Given the description of an element on the screen output the (x, y) to click on. 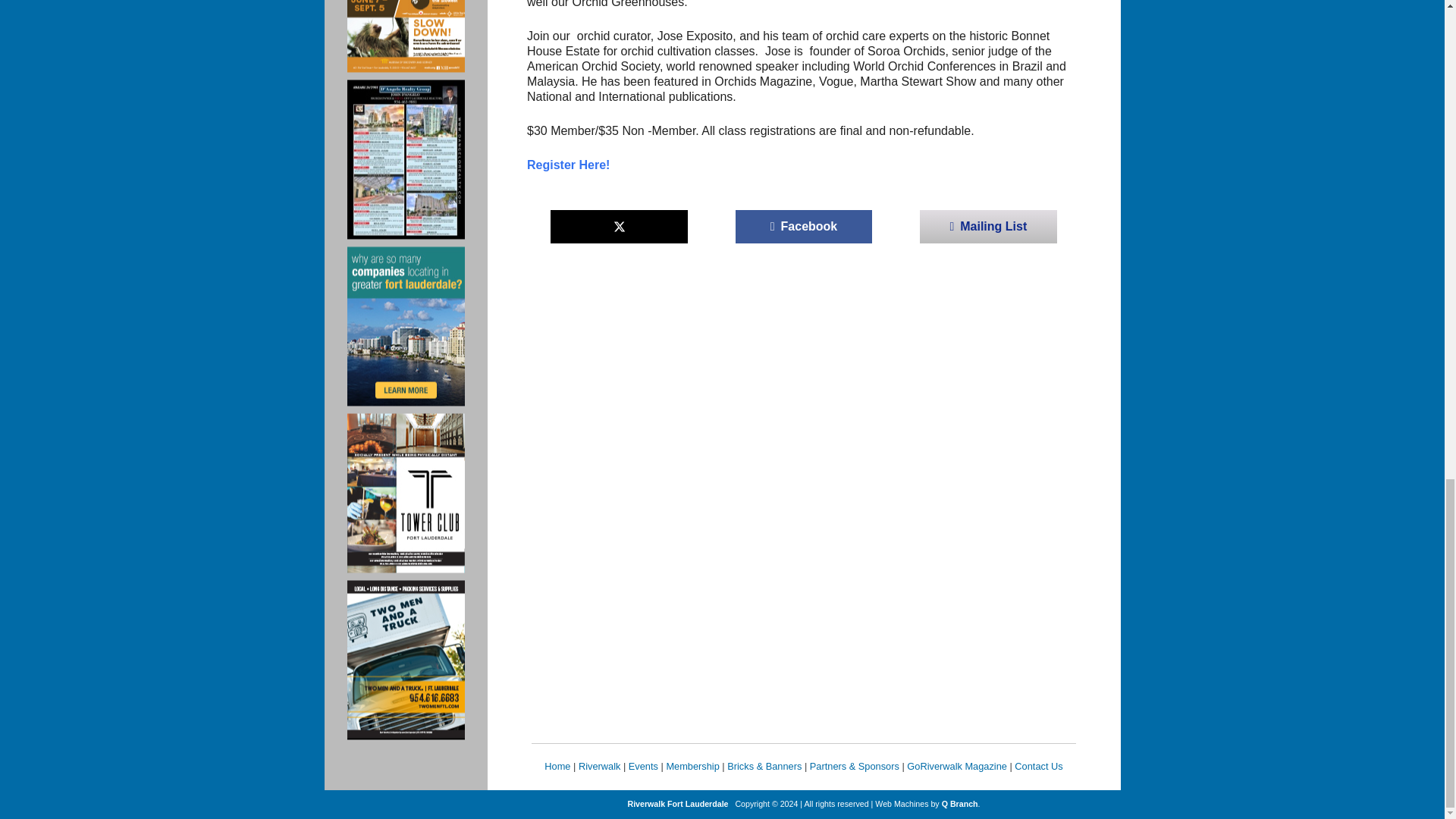
Mailing List (988, 226)
Riverwalk Fort Lauderdale (677, 803)
Register Here! (568, 164)
Facebook (803, 226)
